Given the description of an element on the screen output the (x, y) to click on. 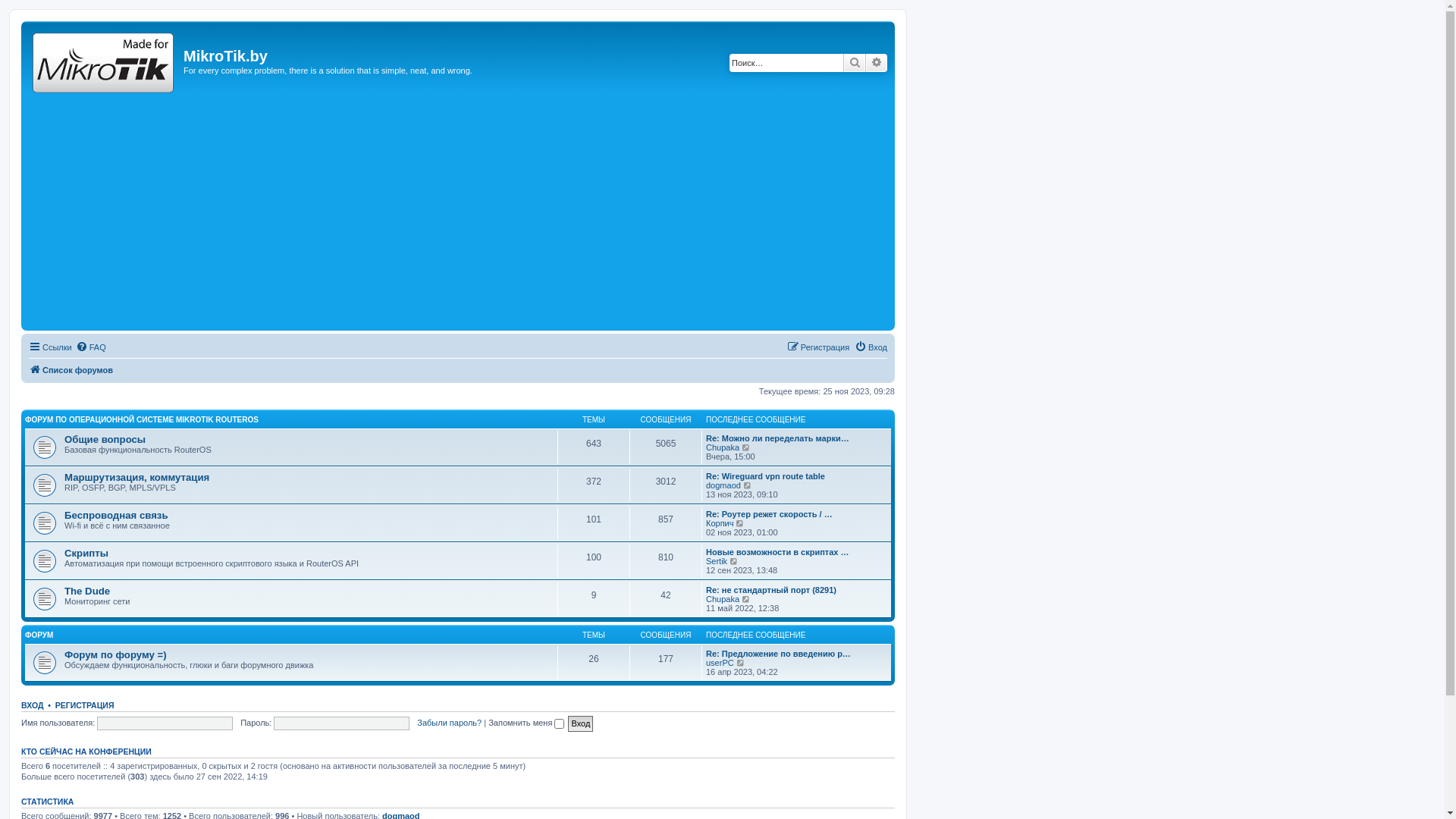
Re: Wireguard vpn route table Element type: text (765, 475)
Advertisement Element type: hover (458, 212)
userPC Element type: text (720, 662)
The Dude Element type: text (86, 590)
Chupaka Element type: text (722, 598)
dogmaod Element type: text (723, 484)
Sertik Element type: text (716, 560)
FAQ Element type: text (90, 347)
Chupaka Element type: text (722, 446)
